Given the description of an element on the screen output the (x, y) to click on. 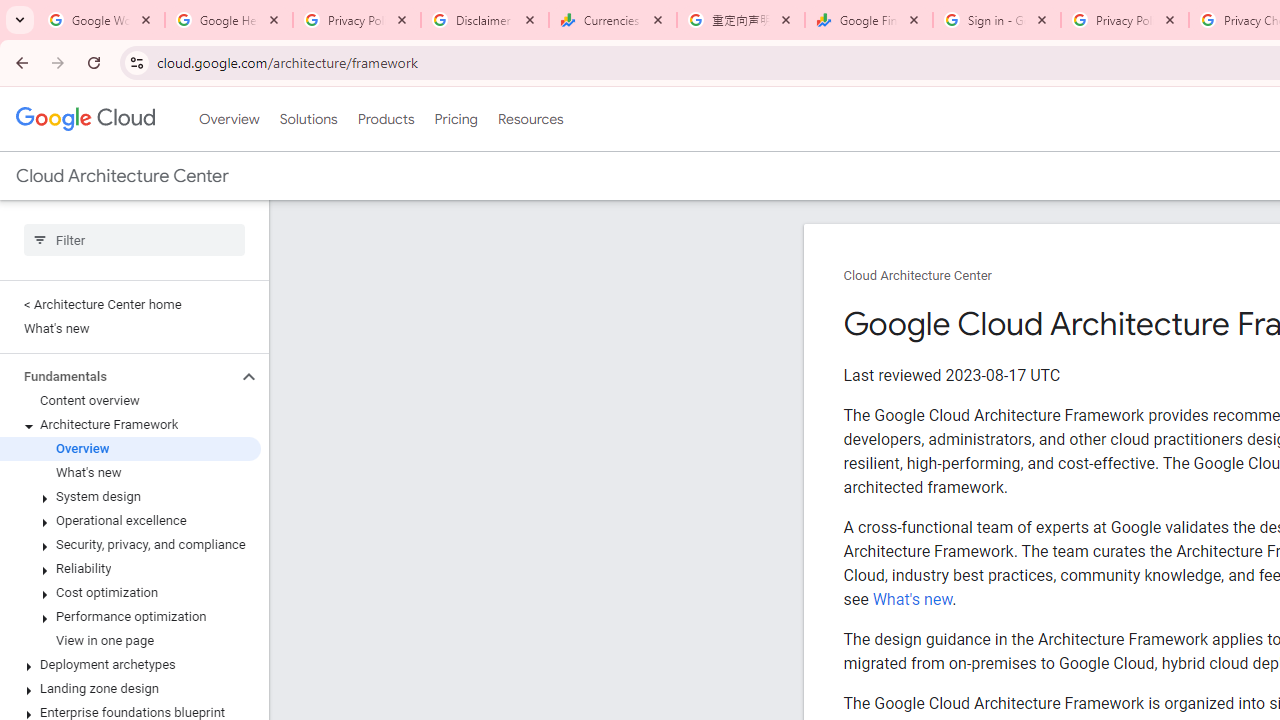
Reliability (130, 569)
Operational excellence (130, 520)
Content overview (130, 400)
Products (385, 119)
Security, privacy, and compliance (130, 544)
What's new (912, 599)
